Given the description of an element on the screen output the (x, y) to click on. 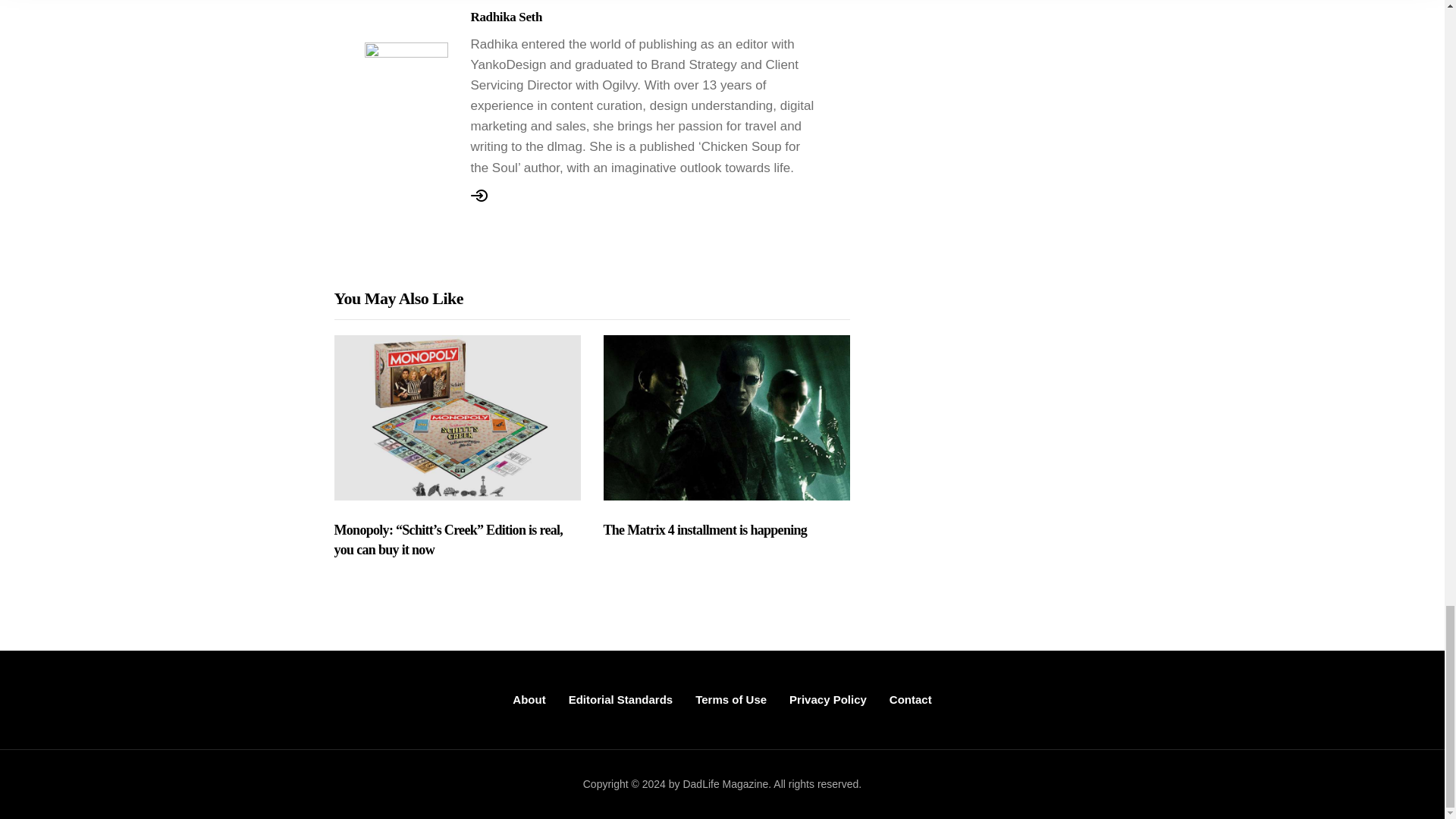
The Matrix 4 installment is happening (727, 530)
